Given the description of an element on the screen output the (x, y) to click on. 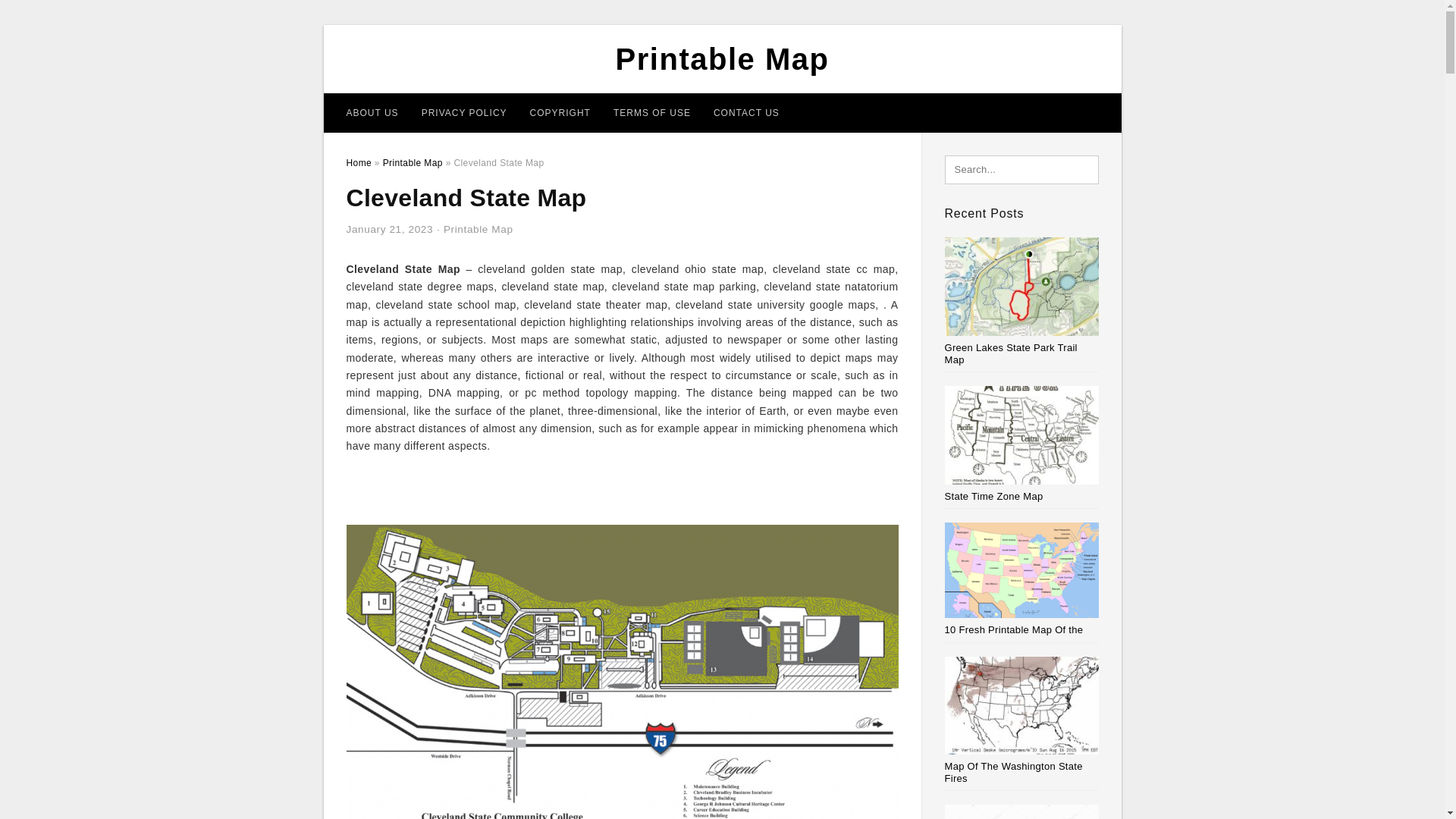
COPYRIGHT (560, 112)
Printable Map (722, 59)
Printable Map (412, 163)
Printable Map (478, 229)
PRIVACY POLICY (464, 112)
Home (358, 163)
ABOUT US (372, 112)
CONTACT US (745, 112)
TERMS OF USE (651, 112)
